Given the description of an element on the screen output the (x, y) to click on. 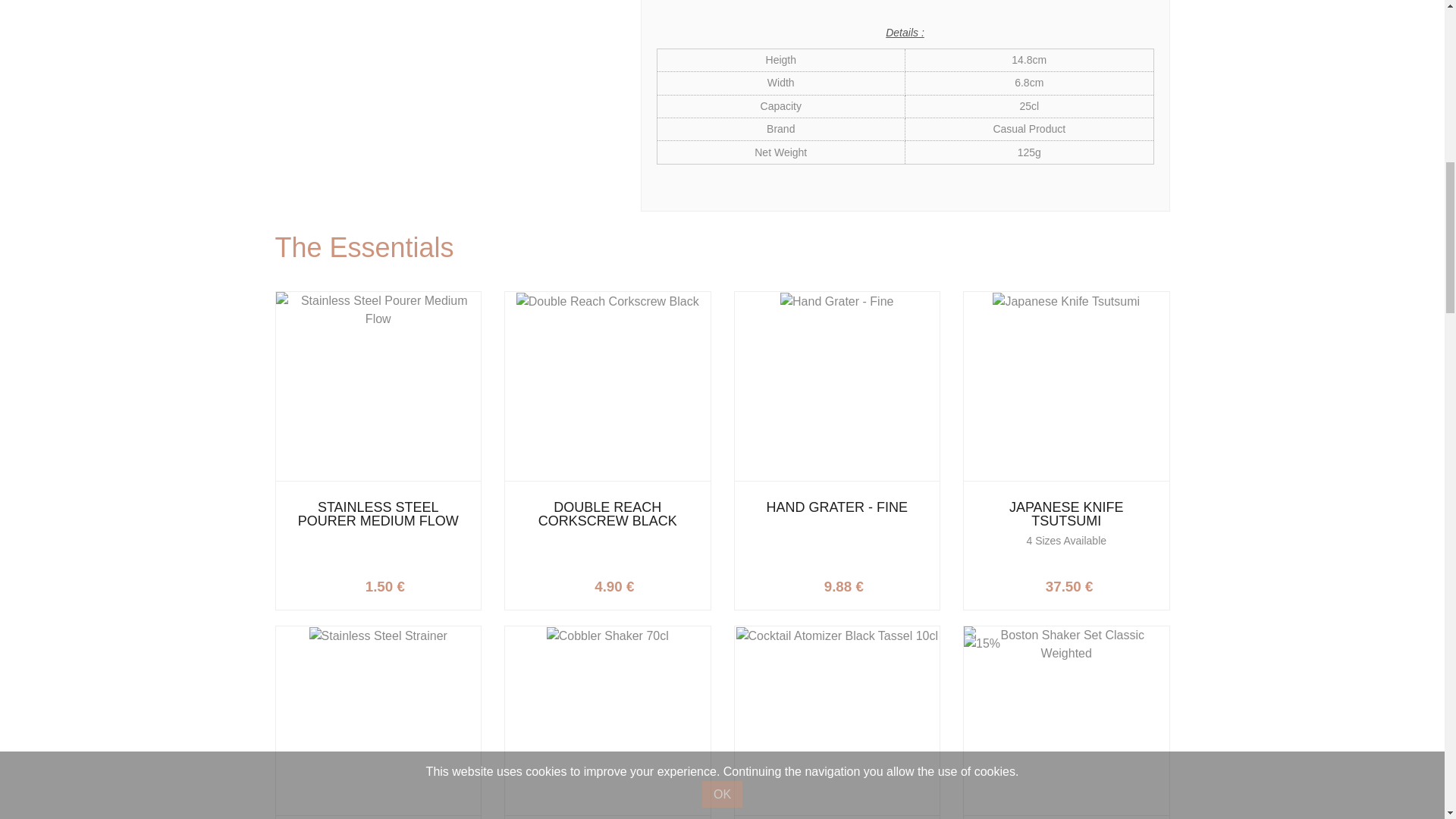
More info (1111, 583)
Add to cart (882, 583)
More info (653, 583)
More info (882, 583)
More info (424, 583)
